Given the description of an element on the screen output the (x, y) to click on. 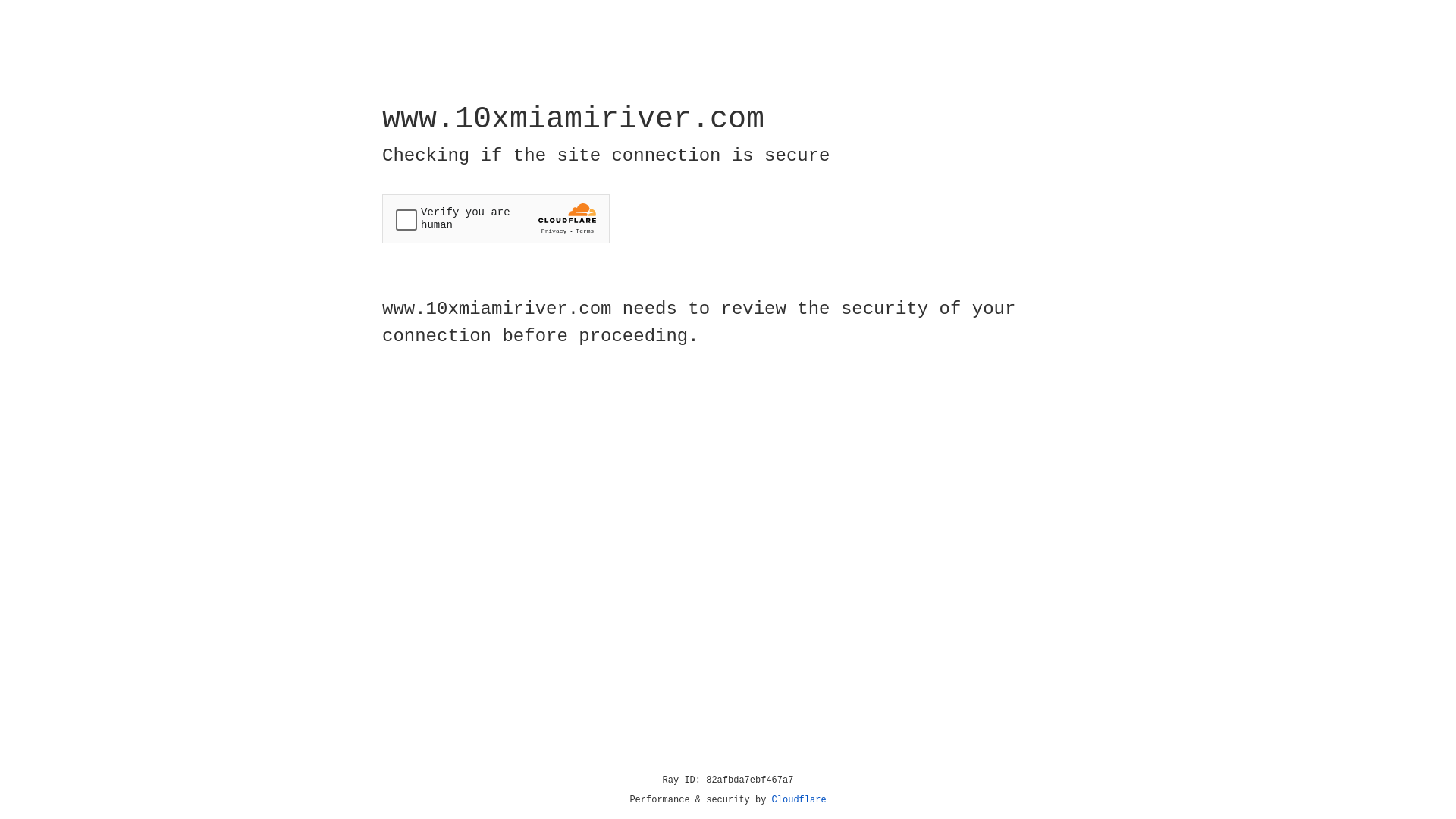
Cloudflare Element type: text (798, 799)
Widget containing a Cloudflare security challenge Element type: hover (495, 218)
